Given the description of an element on the screen output the (x, y) to click on. 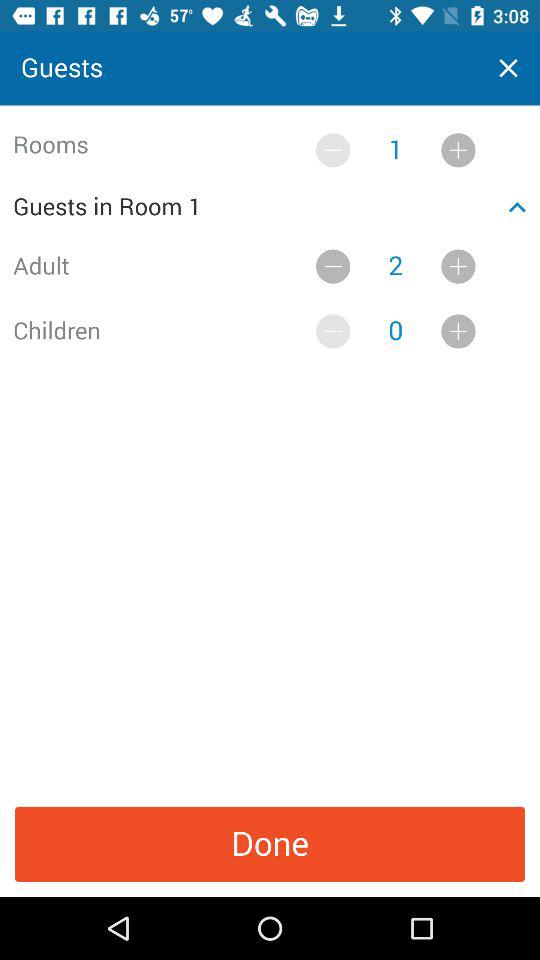
close this page (508, 67)
